Given the description of an element on the screen output the (x, y) to click on. 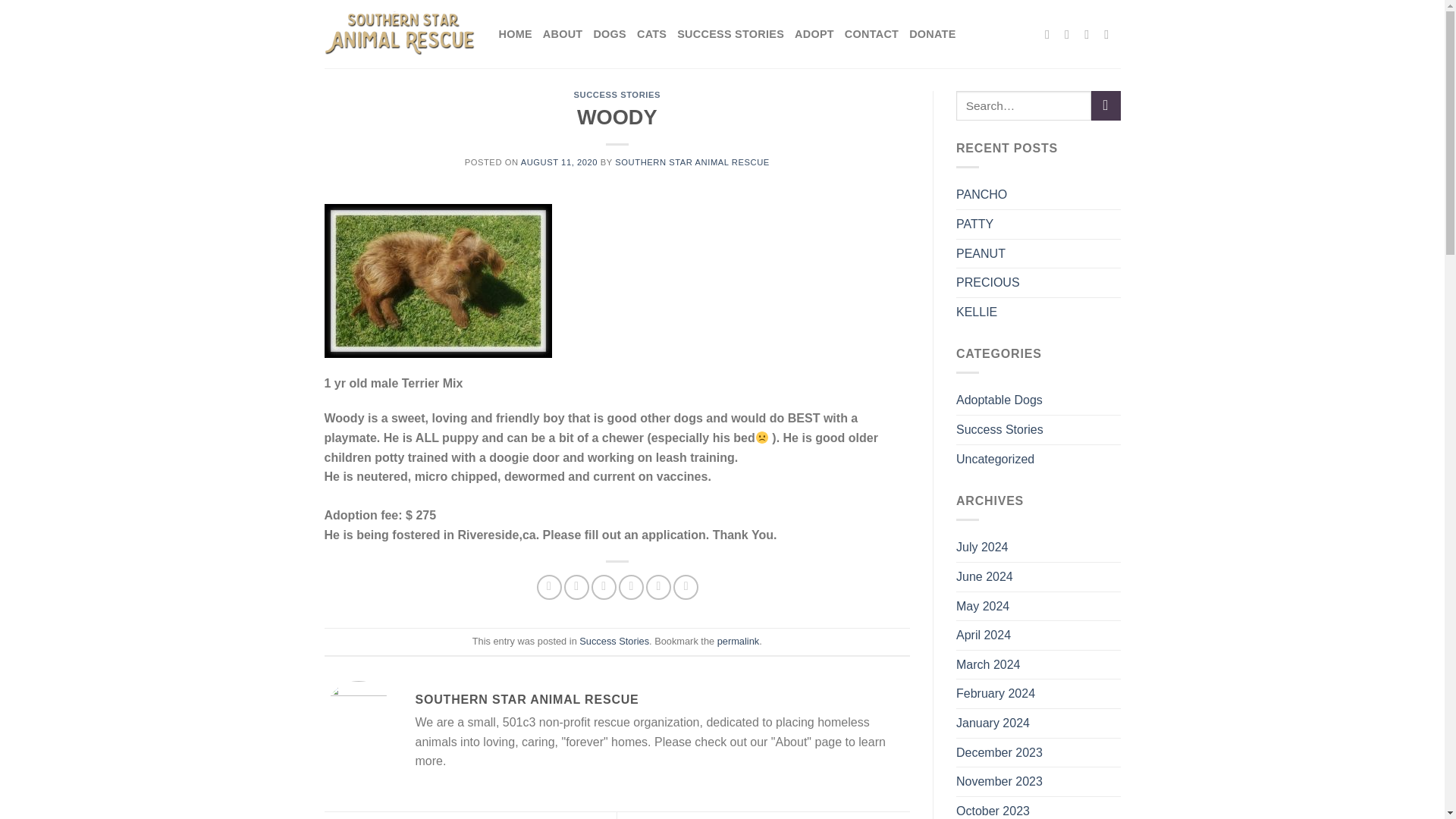
DONATE (931, 33)
ADOPT (814, 33)
PANCHO (981, 194)
Southern Star Animal Rescue (400, 33)
PRECIOUS (988, 282)
PEANUT (981, 253)
PATTY (974, 224)
Adoptable Dogs (999, 399)
Success Stories (999, 429)
Success Stories (614, 641)
KELLIE (976, 312)
CONTACT (871, 33)
SUCCESS STORIES (617, 94)
CATS (651, 33)
ABOUT (563, 33)
